Given the description of an element on the screen output the (x, y) to click on. 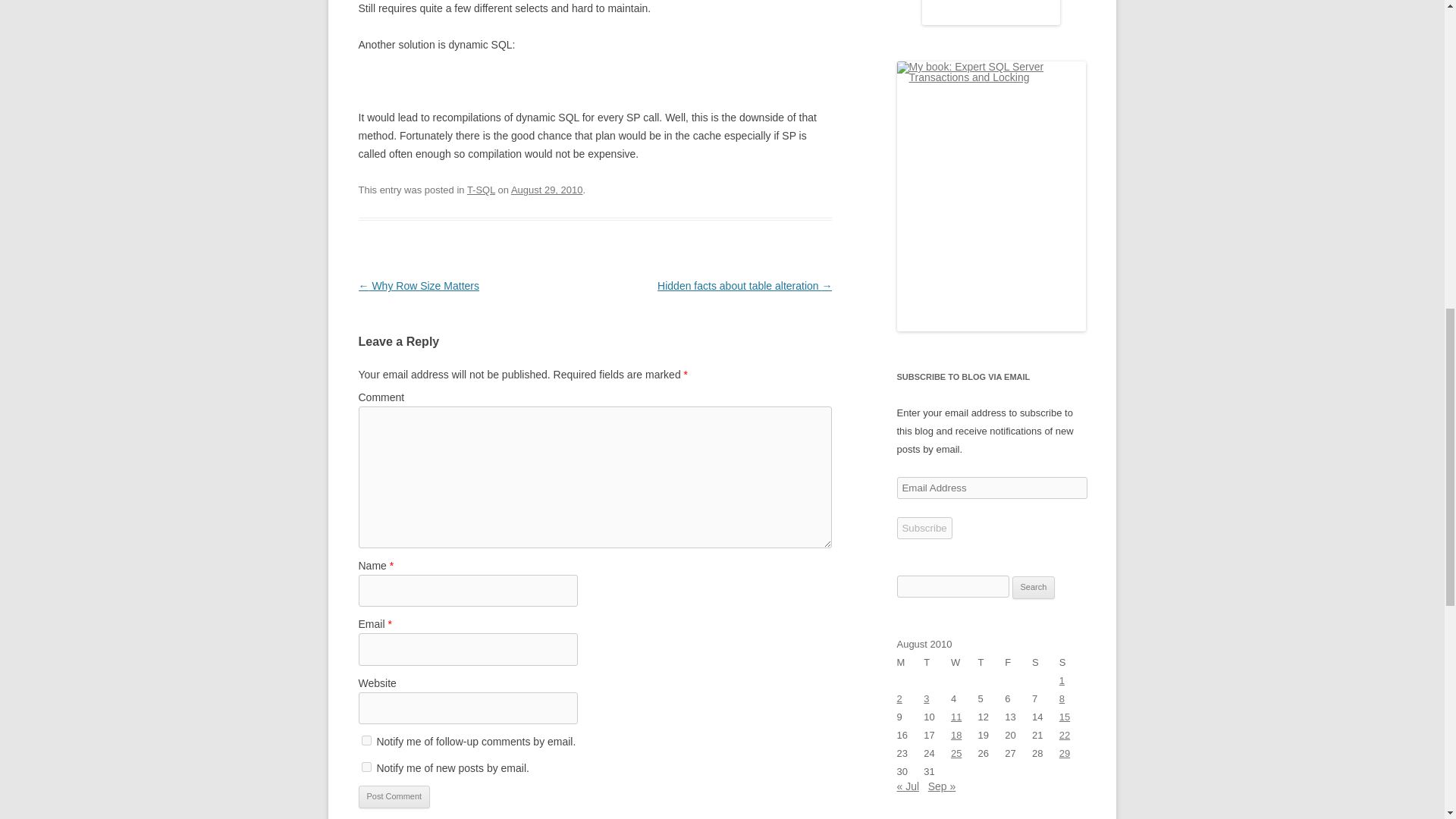
Saturday (1045, 662)
subscribe (366, 740)
Sunday (1072, 662)
Wednesday (964, 662)
Post Comment (393, 796)
Monday (909, 662)
Search (1033, 587)
29 (1064, 753)
8:40 pm (547, 189)
18 (955, 735)
